Given the description of an element on the screen output the (x, y) to click on. 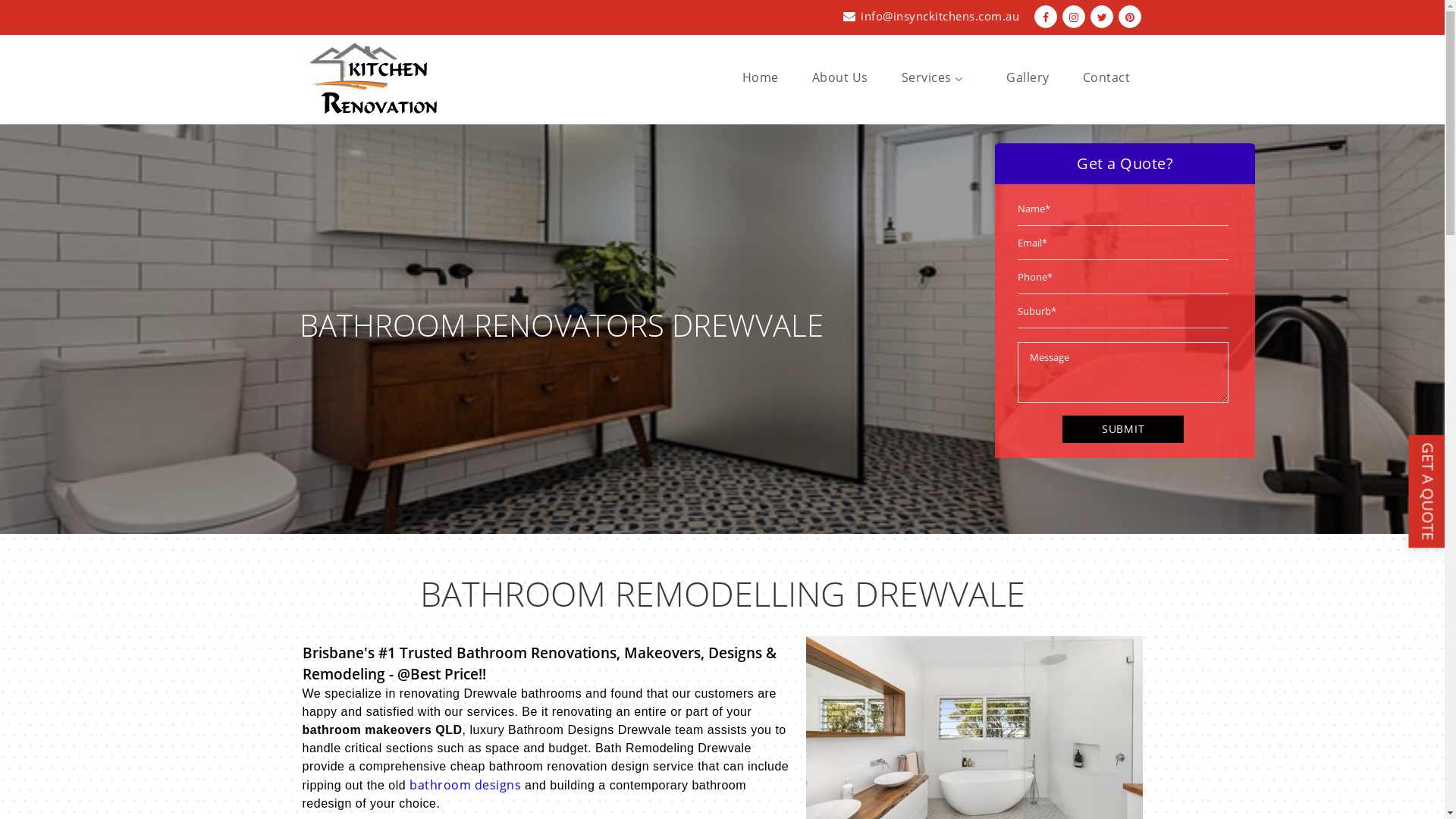
bathroom designs Element type: text (464, 784)
Services Element type: text (937, 77)
Home Element type: text (760, 77)
Gallery Element type: text (1027, 77)
About Us Element type: text (840, 77)
Submit Element type: text (1122, 428)
info@insynckitchens.com.au Element type: text (939, 15)
Contact Element type: text (1106, 77)
